Given the description of an element on the screen output the (x, y) to click on. 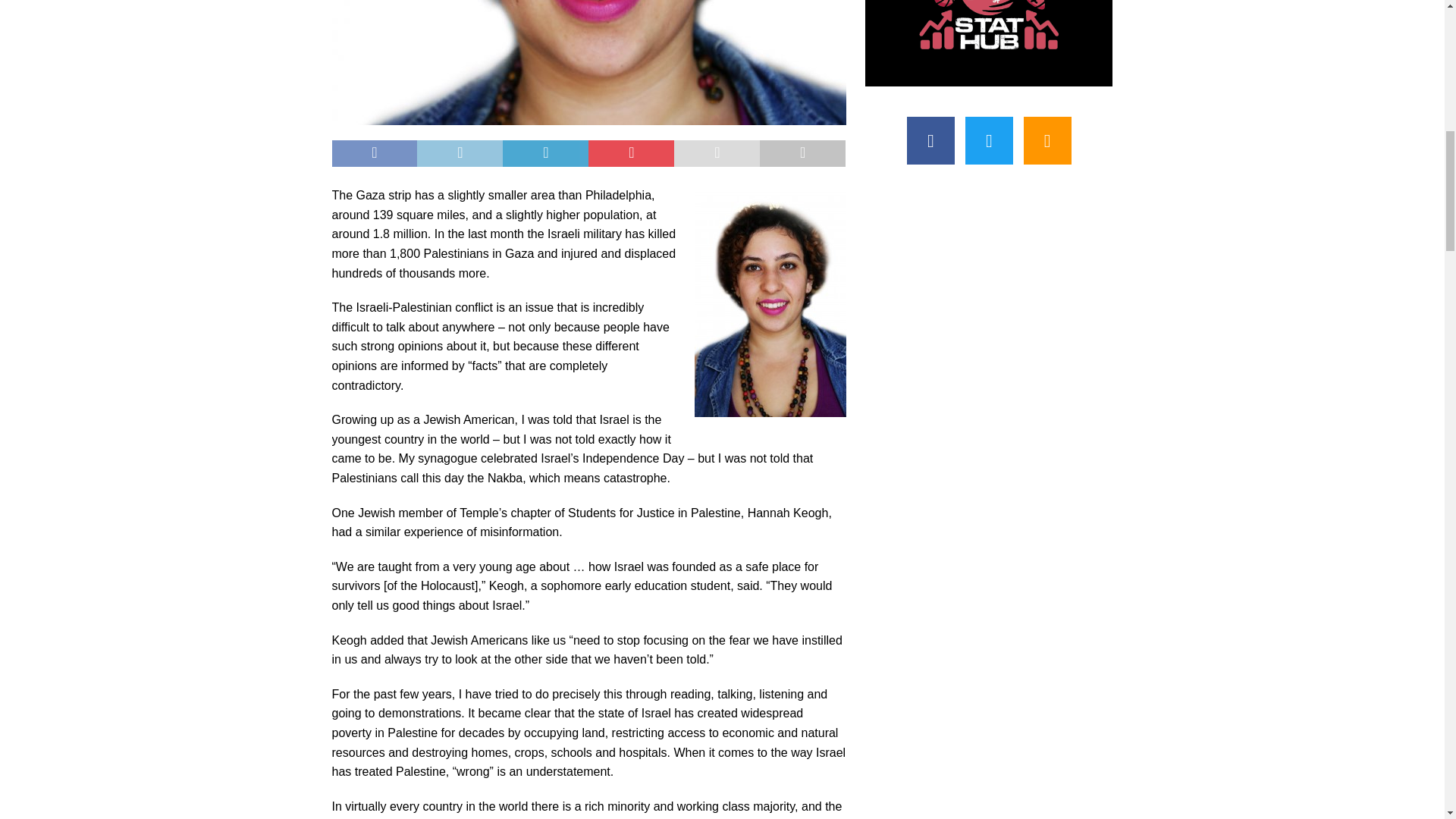
Sarah Giskin (588, 62)
